Given the description of an element on the screen output the (x, y) to click on. 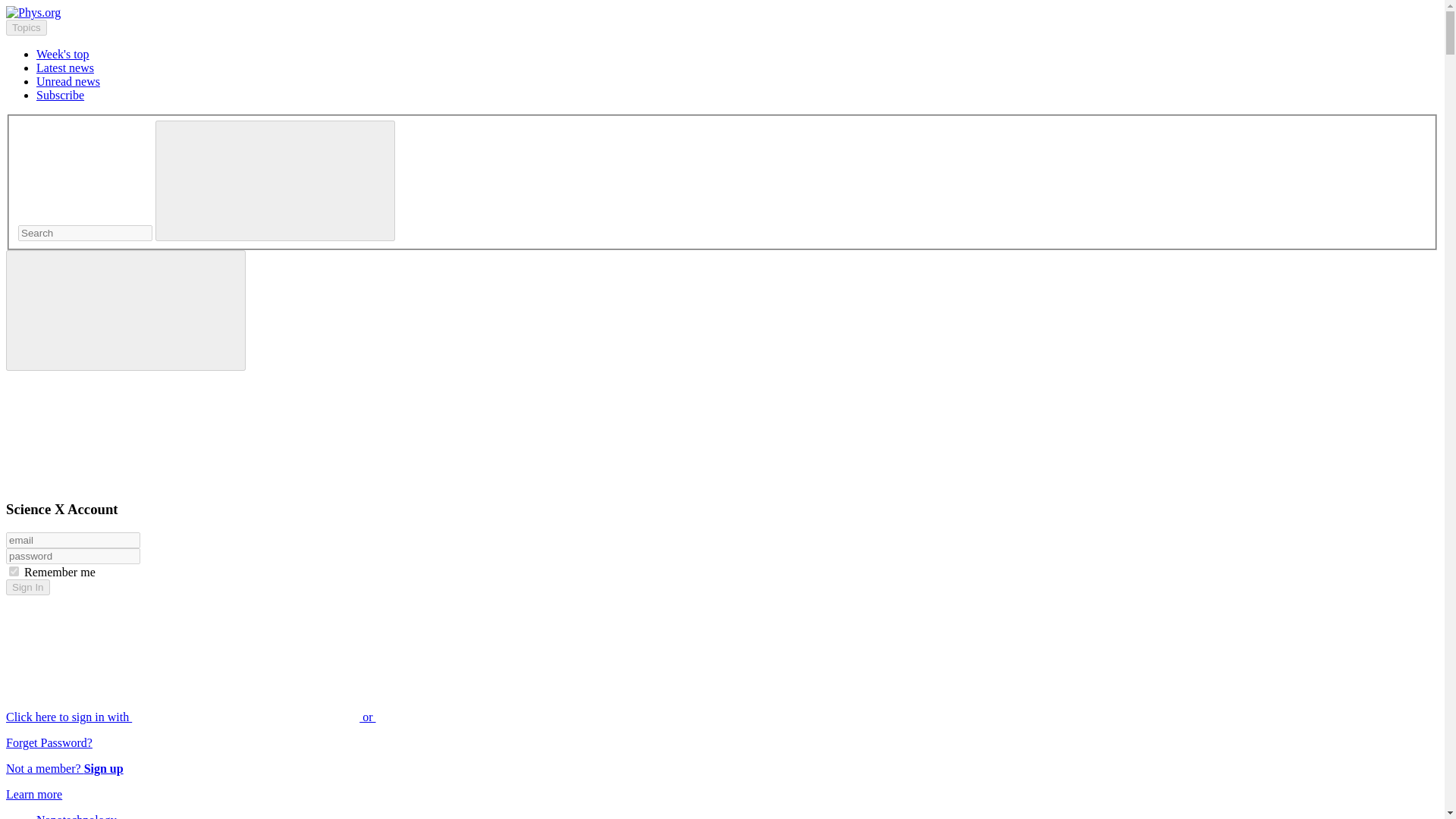
Unread news (68, 81)
Latest news (65, 67)
Learn more (33, 793)
Sign In (27, 587)
Subscribe (60, 94)
Click here to sign in with or (304, 716)
Forget Password? (49, 742)
Week's top (62, 53)
Nanotechnology (76, 816)
on (13, 571)
Topics (25, 27)
Not a member? Sign up (64, 768)
